Given the description of an element on the screen output the (x, y) to click on. 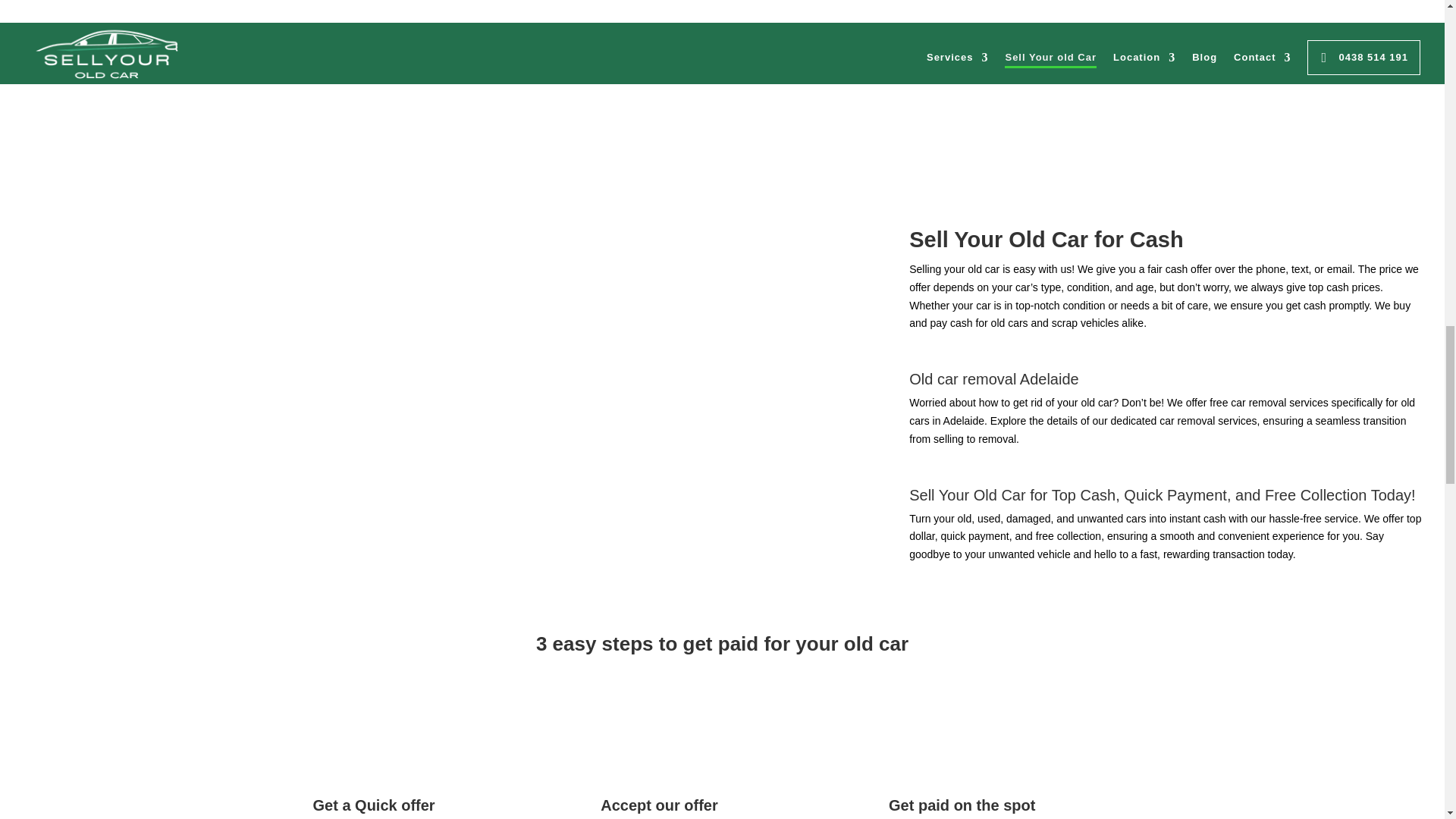
free car removal services (1268, 402)
Sell your old car Adelaide (1166, 94)
cash offer (1188, 268)
instant cash (1197, 518)
